Given the description of an element on the screen output the (x, y) to click on. 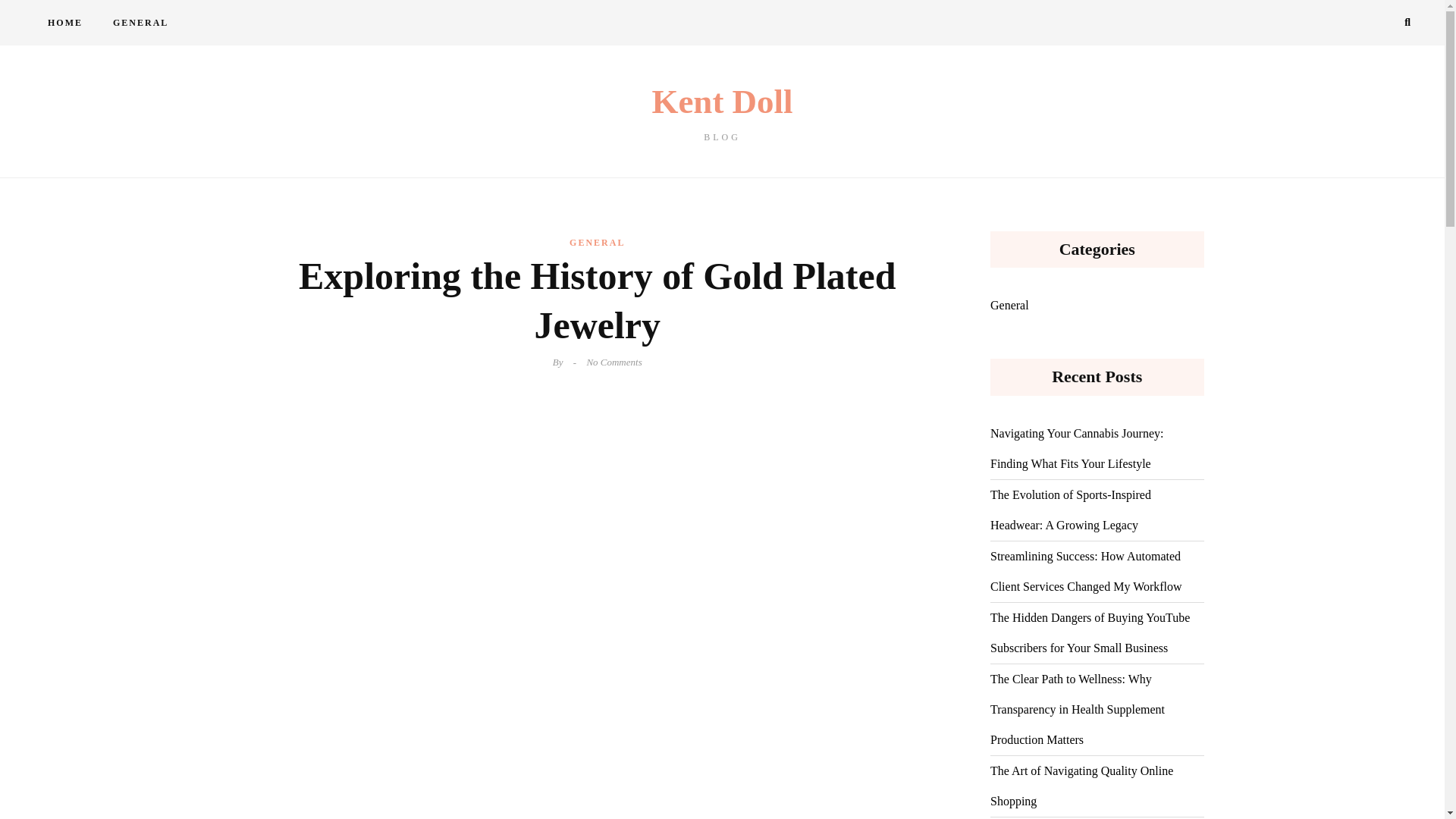
GENERAL (140, 22)
HOME (721, 112)
Tackling the YouTube TV Activation Headaches (64, 22)
The Art of Navigating Quality Online Shopping (596, 241)
